Given the description of an element on the screen output the (x, y) to click on. 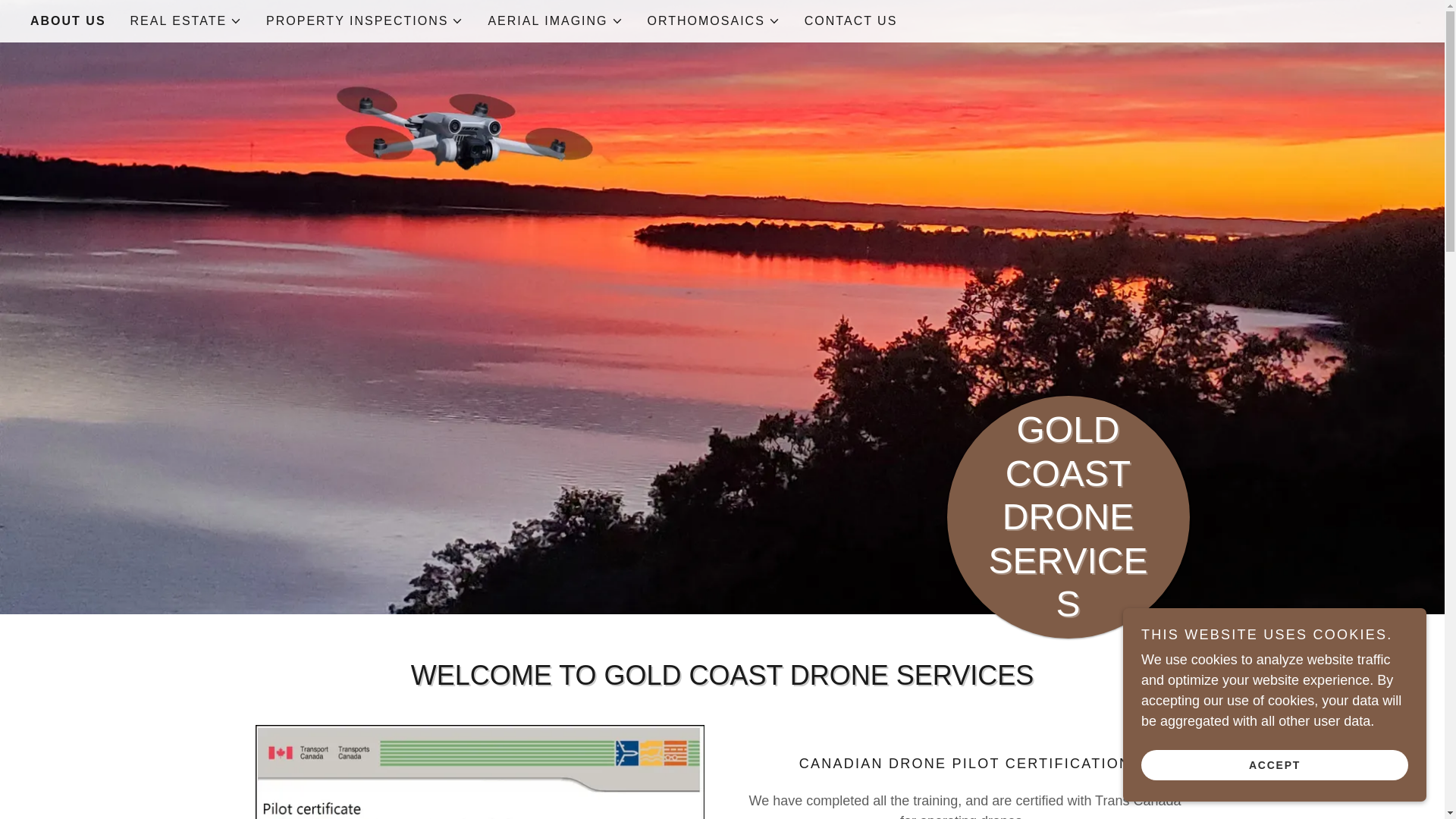
ABOUT US (68, 21)
PROPERTY INSPECTIONS (364, 21)
REAL ESTATE (187, 21)
AERIAL IMAGING (555, 21)
ORTHOMOSAICS (713, 21)
CONTACT US (850, 21)
